Given the description of an element on the screen output the (x, y) to click on. 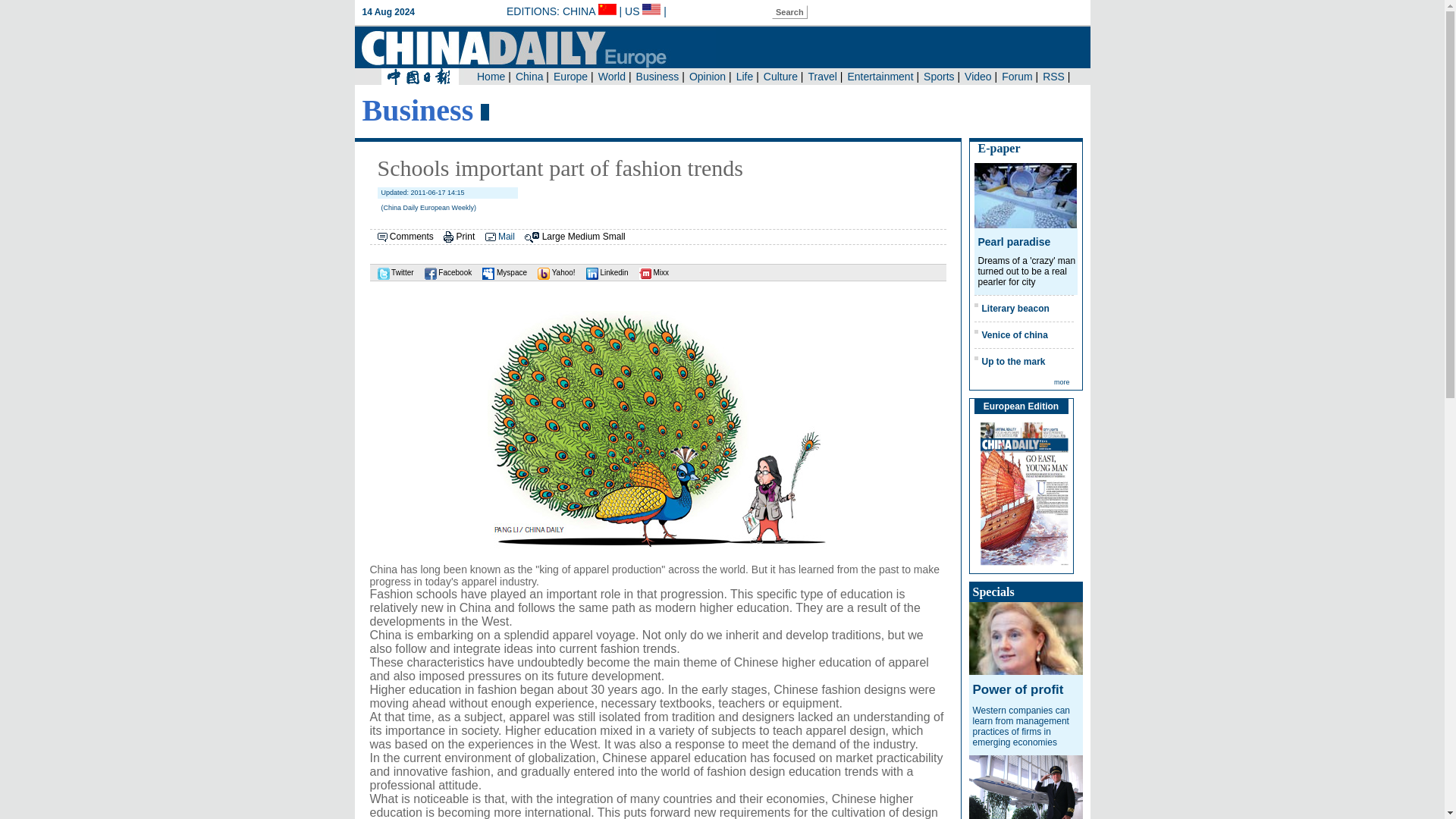
Print (466, 235)
Linkedin (603, 272)
Myspace (500, 272)
Share to Myspace (500, 272)
Facebook (443, 272)
more (1062, 381)
Yahoo! (552, 272)
Share to Mixx (649, 272)
Share to Twitter (391, 272)
Up to the mark (1013, 361)
